Given the description of an element on the screen output the (x, y) to click on. 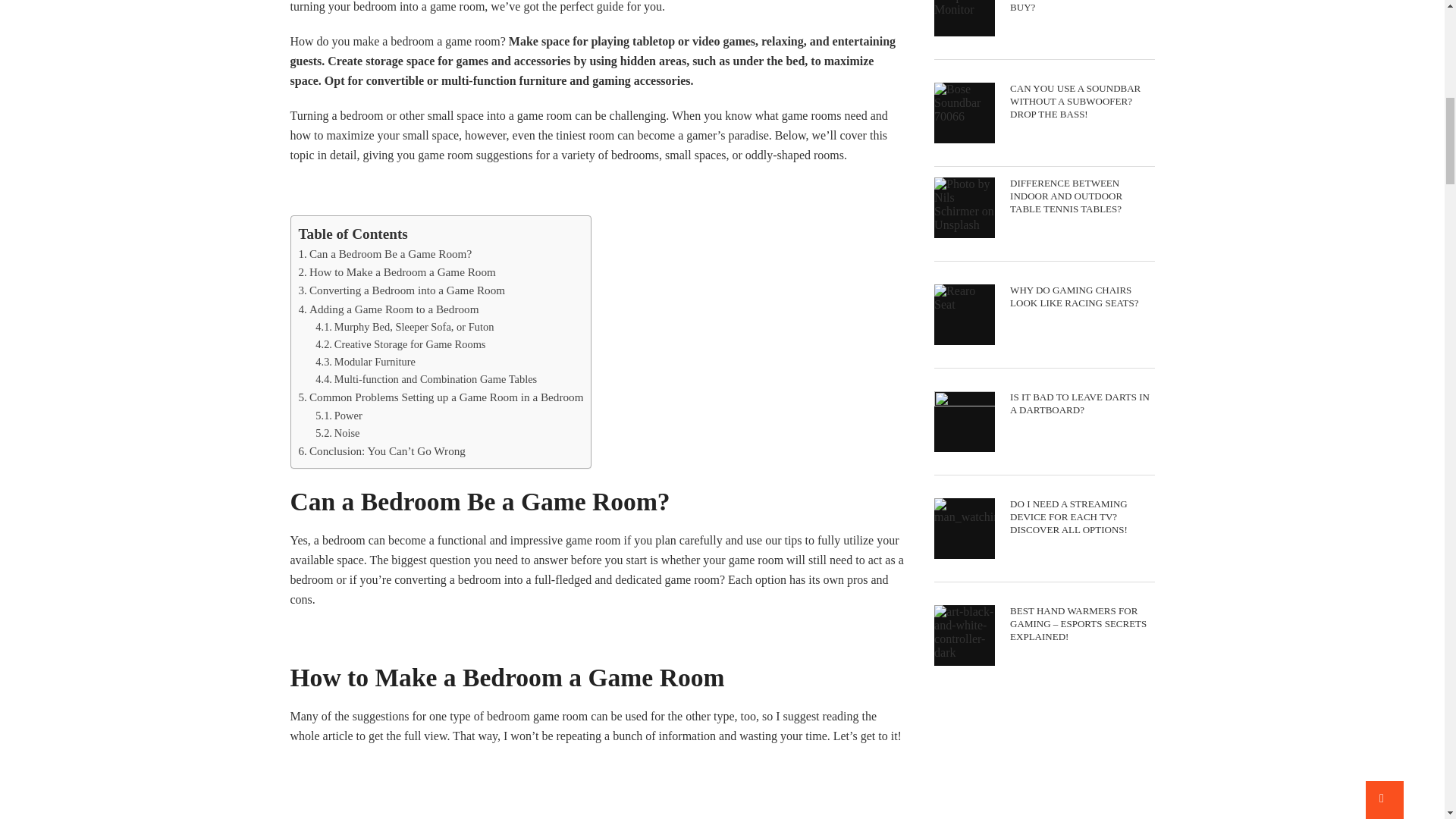
Noise (337, 432)
Multi-function and Combination Game Tables (426, 378)
Modular Furniture (364, 361)
Creative Storage for Game Rooms (399, 344)
How to Make a Bedroom a Game Room (397, 271)
Adding a Game Room to a Bedroom (388, 308)
Murphy Bed, Sleeper Sofa, or Futon (404, 326)
Creative Storage for Game Rooms (399, 344)
Modular Furniture (364, 361)
Can a Bedroom Be a Game Room? (384, 253)
